Given the description of an element on the screen output the (x, y) to click on. 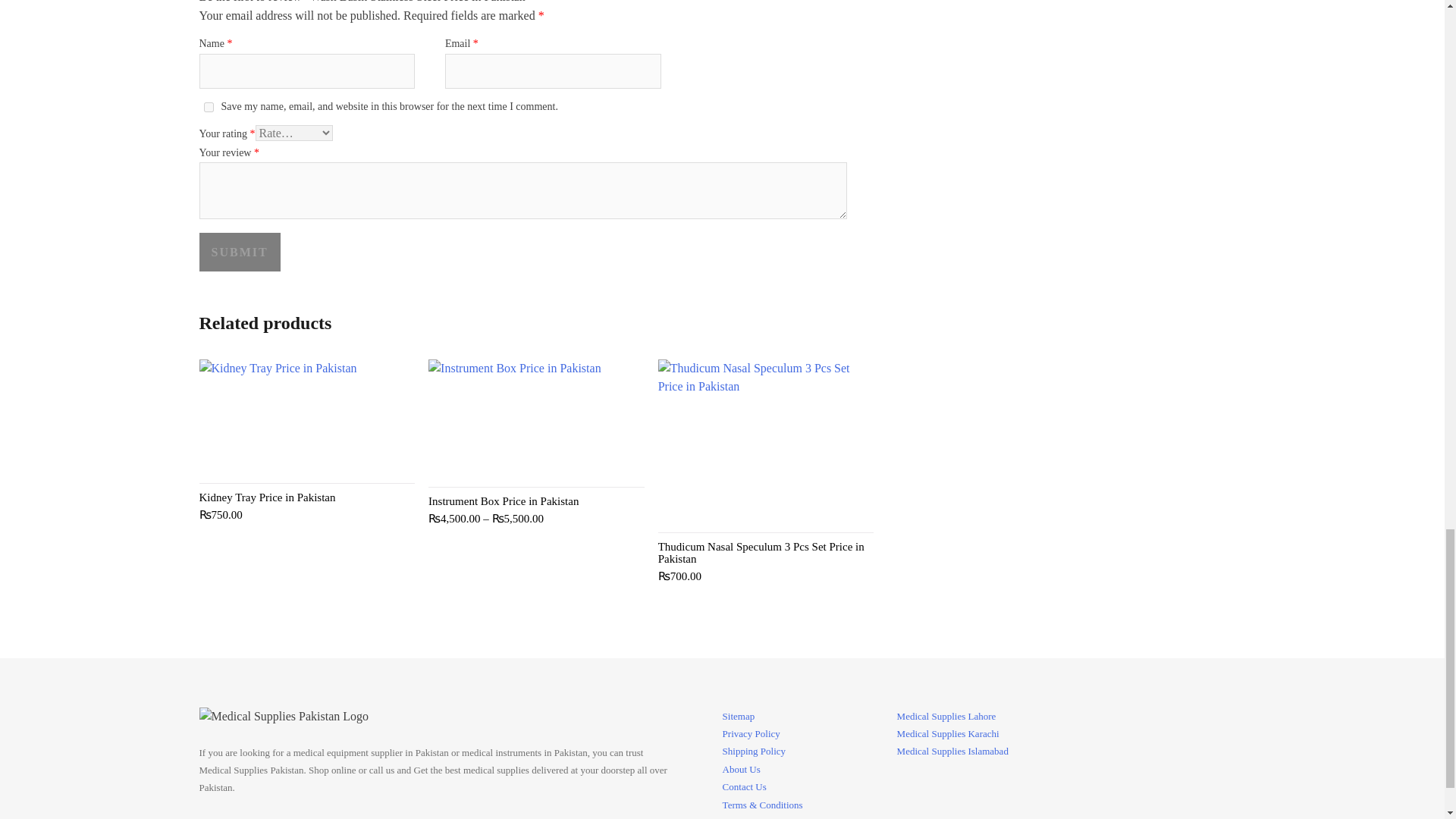
Submit (238, 251)
yes (207, 107)
